Given the description of an element on the screen output the (x, y) to click on. 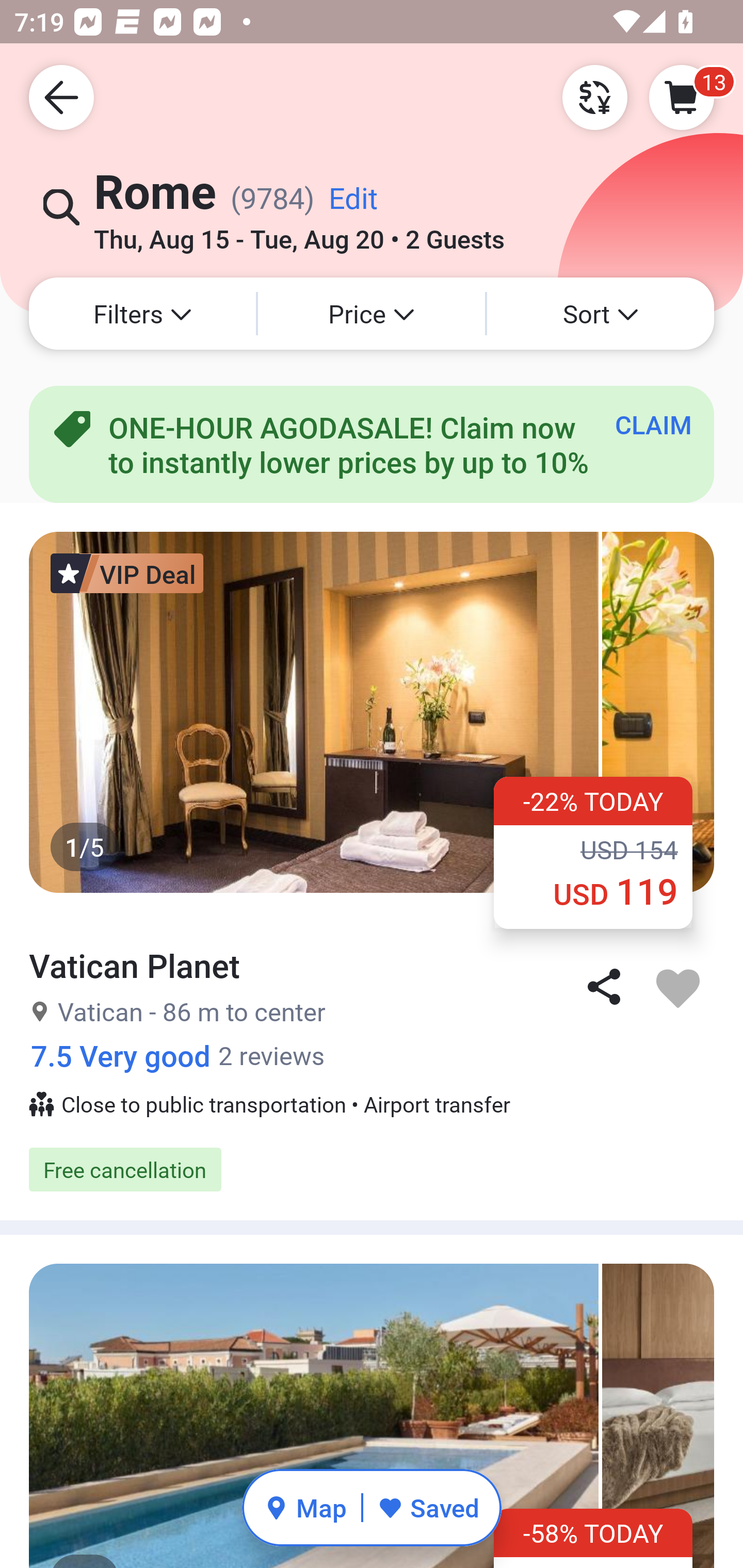
Filters (141, 313)
Price (371, 313)
Sort (600, 313)
CLAIM (653, 424)
VIP Deal (126, 572)
1/5 (371, 711)
-22% TODAY ‪USD 154 ‪USD 119 (593, 852)
Free cancellation (371, 1169)
1/5 (371, 1415)
Map (305, 1507)
Saved (428, 1507)
-58% TODAY ‪USD 1,190 (593, 1538)
